Given the description of an element on the screen output the (x, y) to click on. 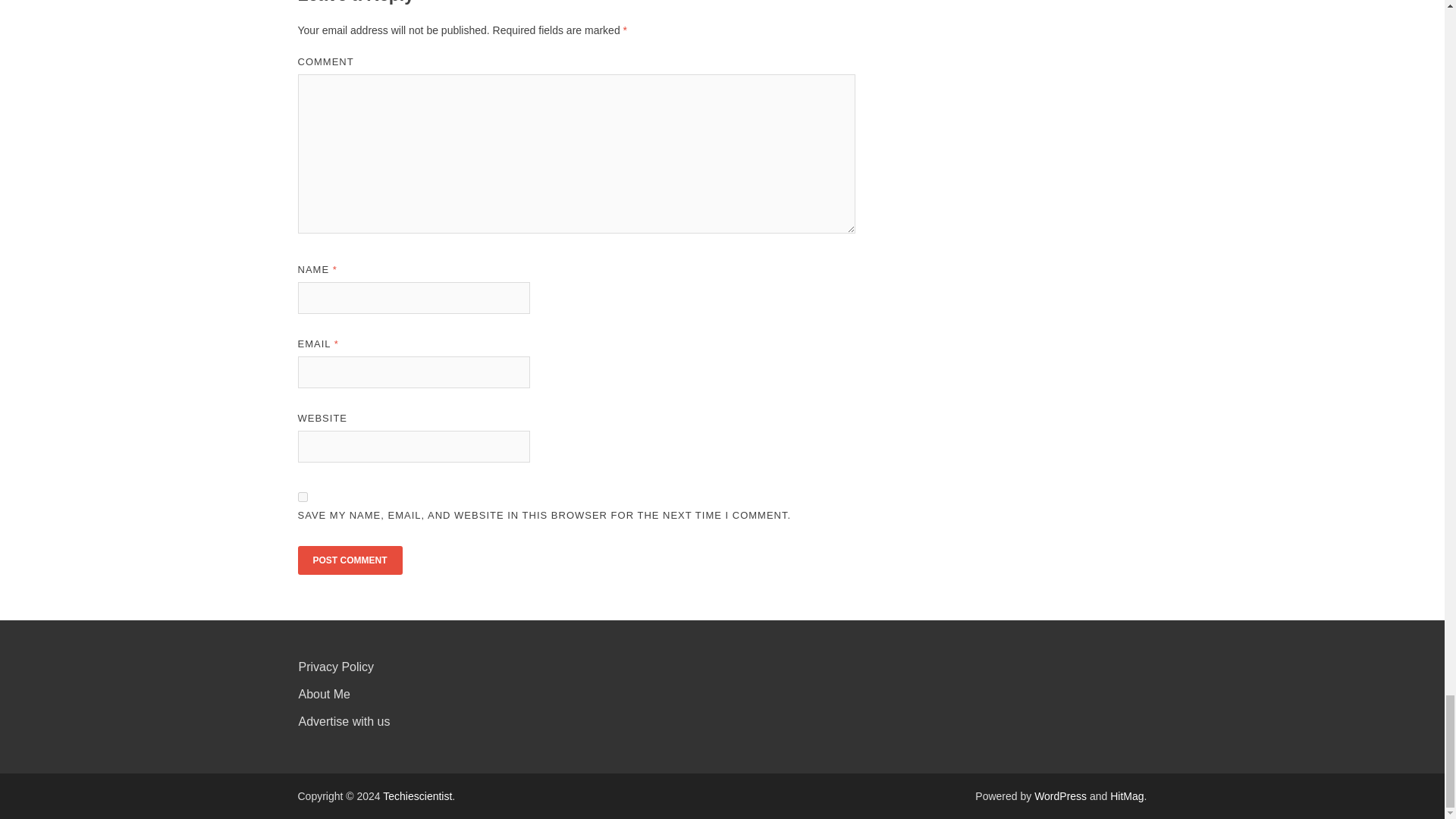
Techiescientist (416, 796)
Post Comment (349, 560)
Post Comment (349, 560)
HitMag (1125, 796)
yes (302, 497)
WordPress (1059, 796)
Privacy Policy (336, 666)
Advertise with us (344, 721)
HitMag WordPress Theme (1125, 796)
About Me (324, 694)
